Given the description of an element on the screen output the (x, y) to click on. 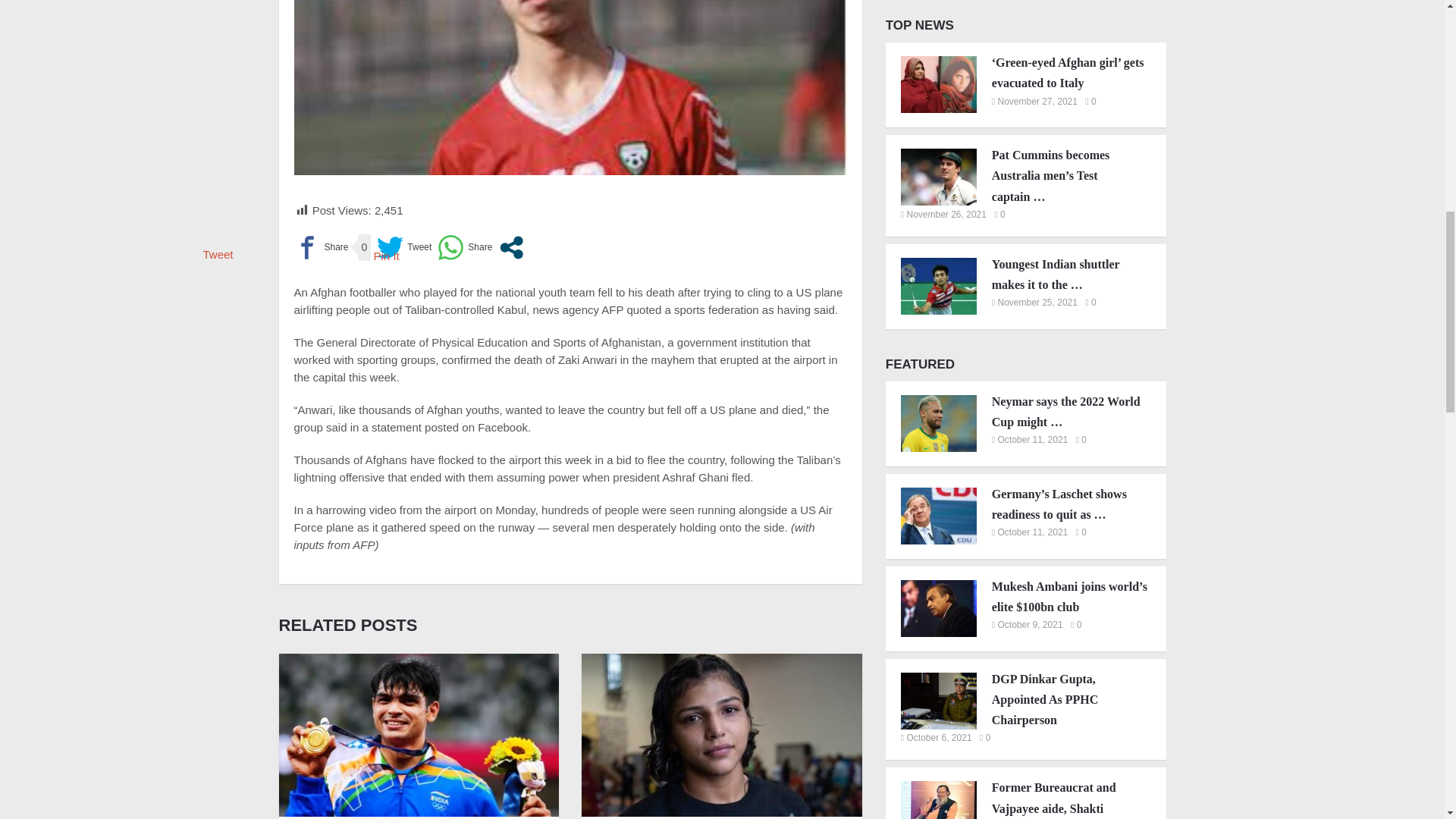
Tweet (403, 247)
Indian champion wrestler Nisha Dahiya wrongly declared dead (720, 734)
Open modal social networks (510, 247)
Share on Facebook (321, 247)
Tokyo Olympics: Neeraj Chopra Wins Gold (419, 734)
Share on WhatsApp (465, 247)
